Given the description of an element on the screen output the (x, y) to click on. 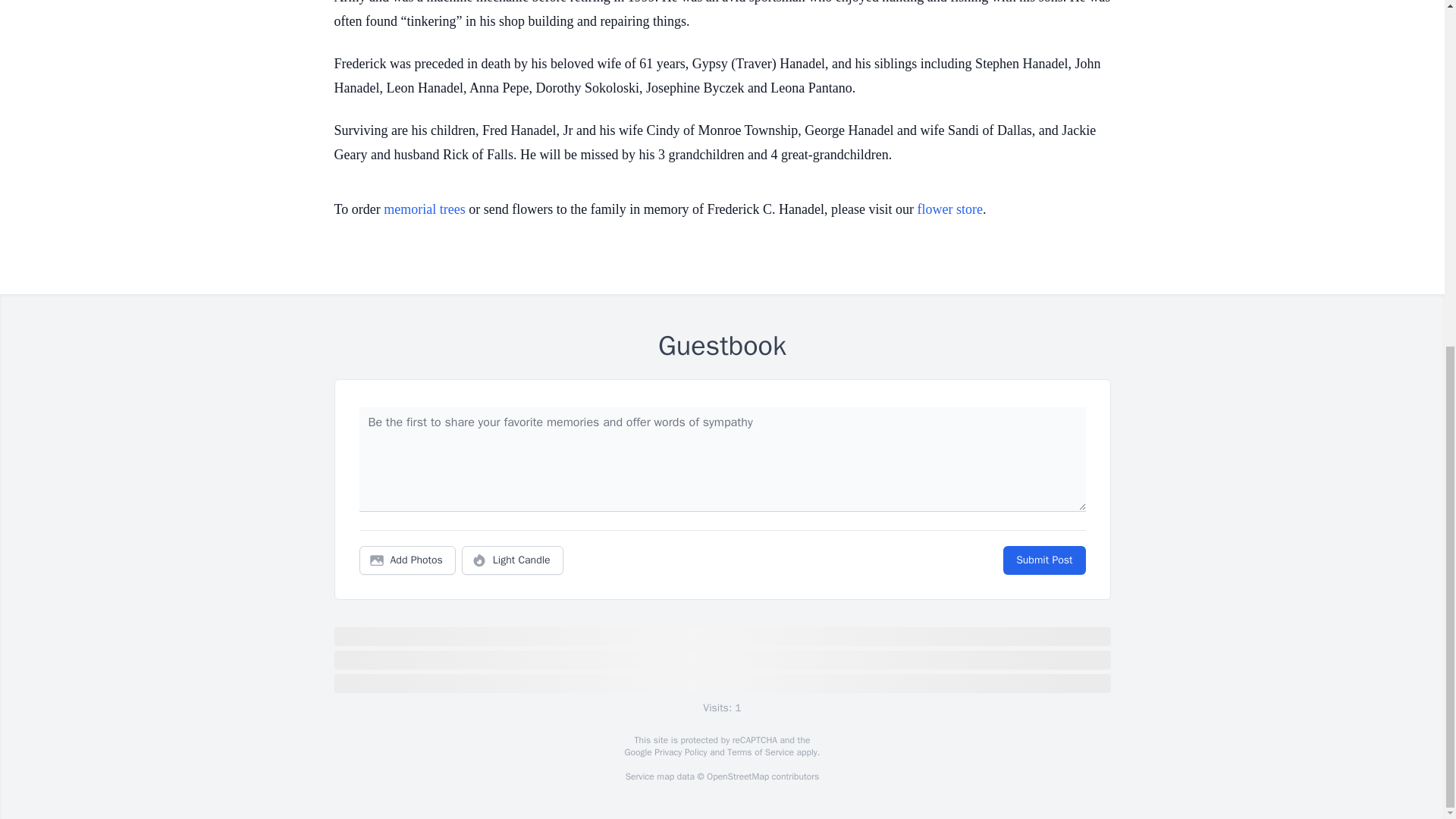
Add Photos (407, 560)
OpenStreetMap (737, 776)
Privacy Policy (679, 752)
flower store (949, 209)
Submit Post (1043, 560)
Light Candle (512, 560)
memorial trees (424, 209)
Terms of Service (759, 752)
